Given the description of an element on the screen output the (x, y) to click on. 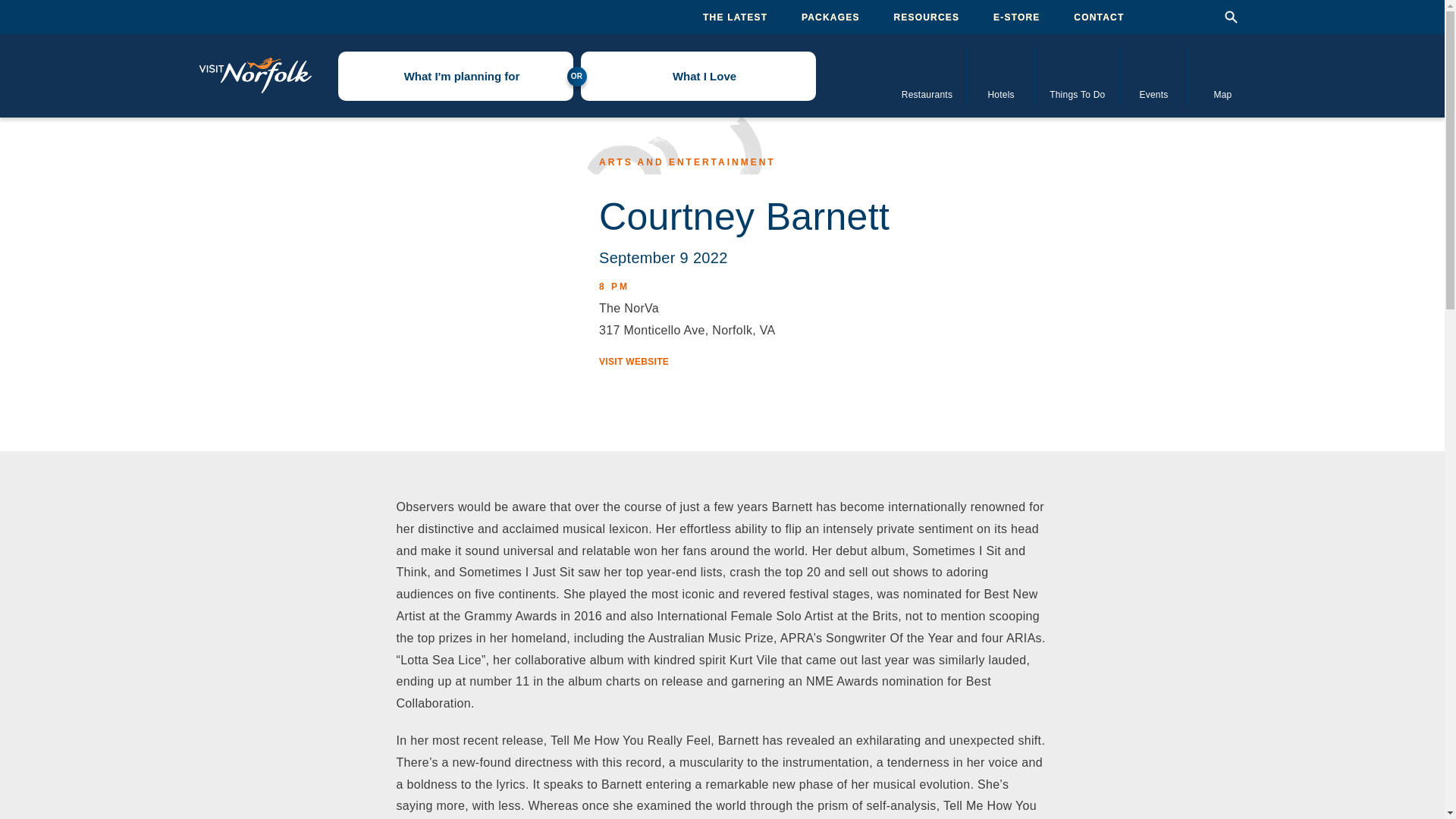
Map (1223, 75)
Things To Do (1077, 75)
Search (1230, 16)
PACKAGES (831, 17)
RESOURCES (926, 17)
E-STORE (1016, 17)
THE LATEST (735, 17)
CONTACT (1099, 17)
Visit Norfolk (254, 75)
Hotels (1001, 75)
